Given the description of an element on the screen output the (x, y) to click on. 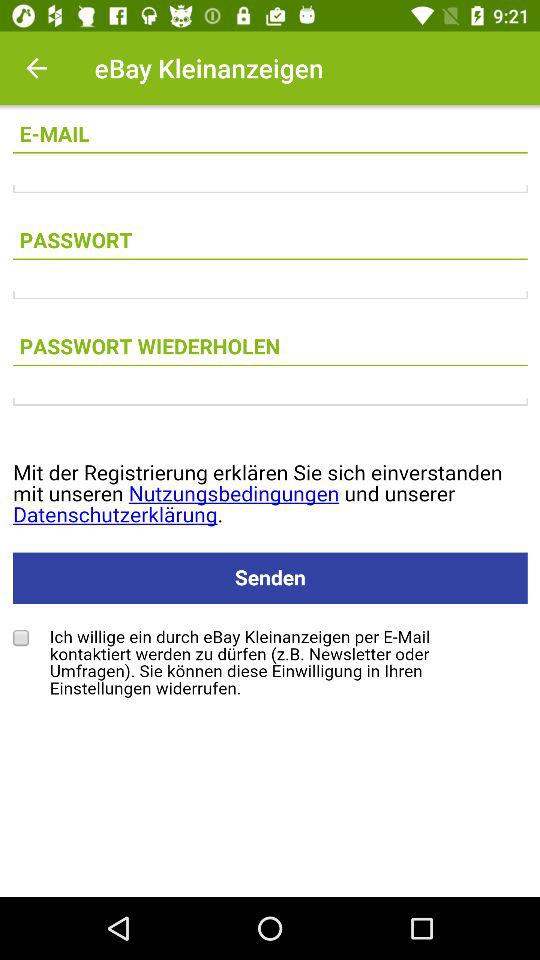
type the text (270, 402)
